Given the description of an element on the screen output the (x, y) to click on. 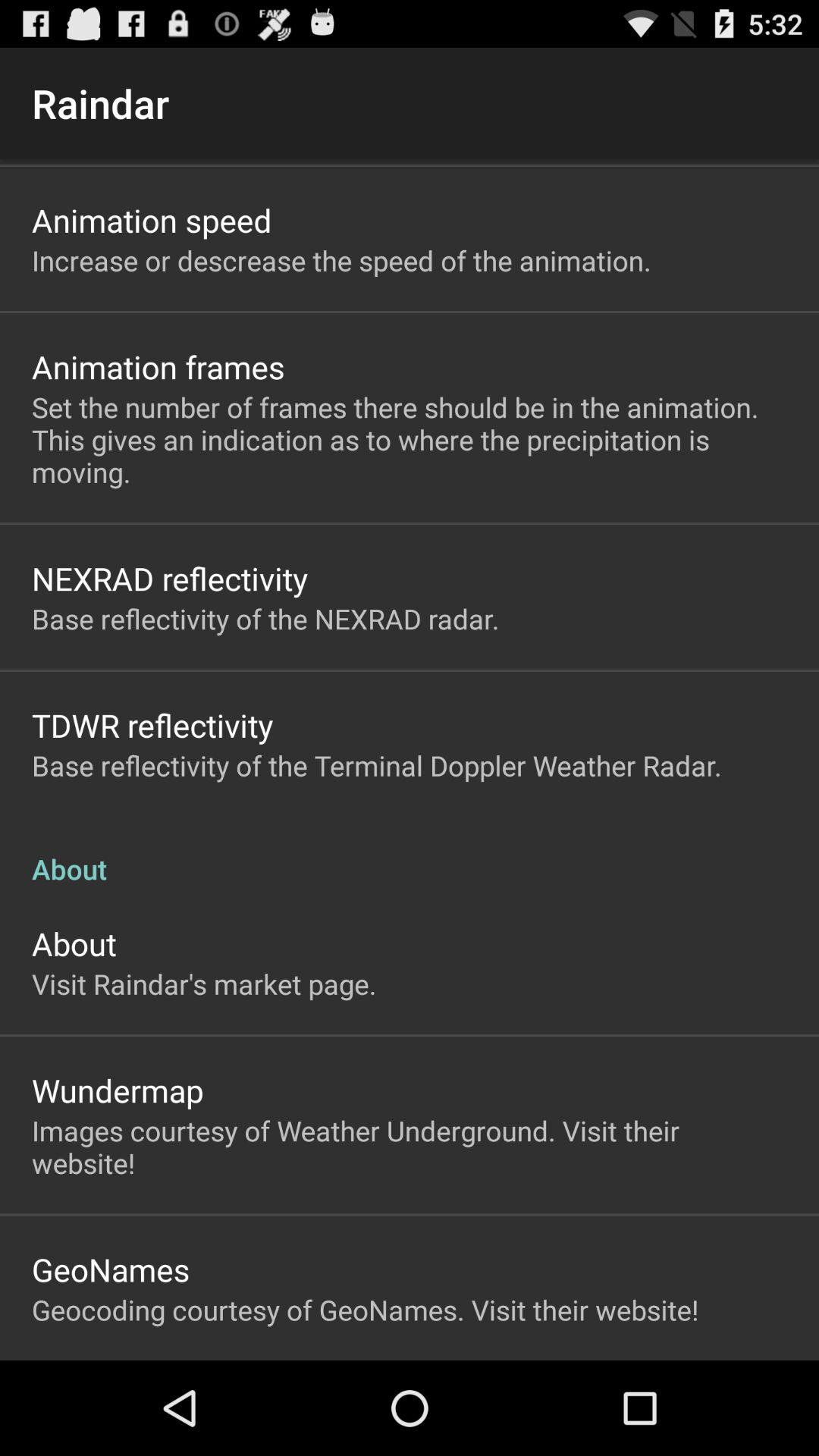
open the app below the visit raindar s app (117, 1089)
